Given the description of an element on the screen output the (x, y) to click on. 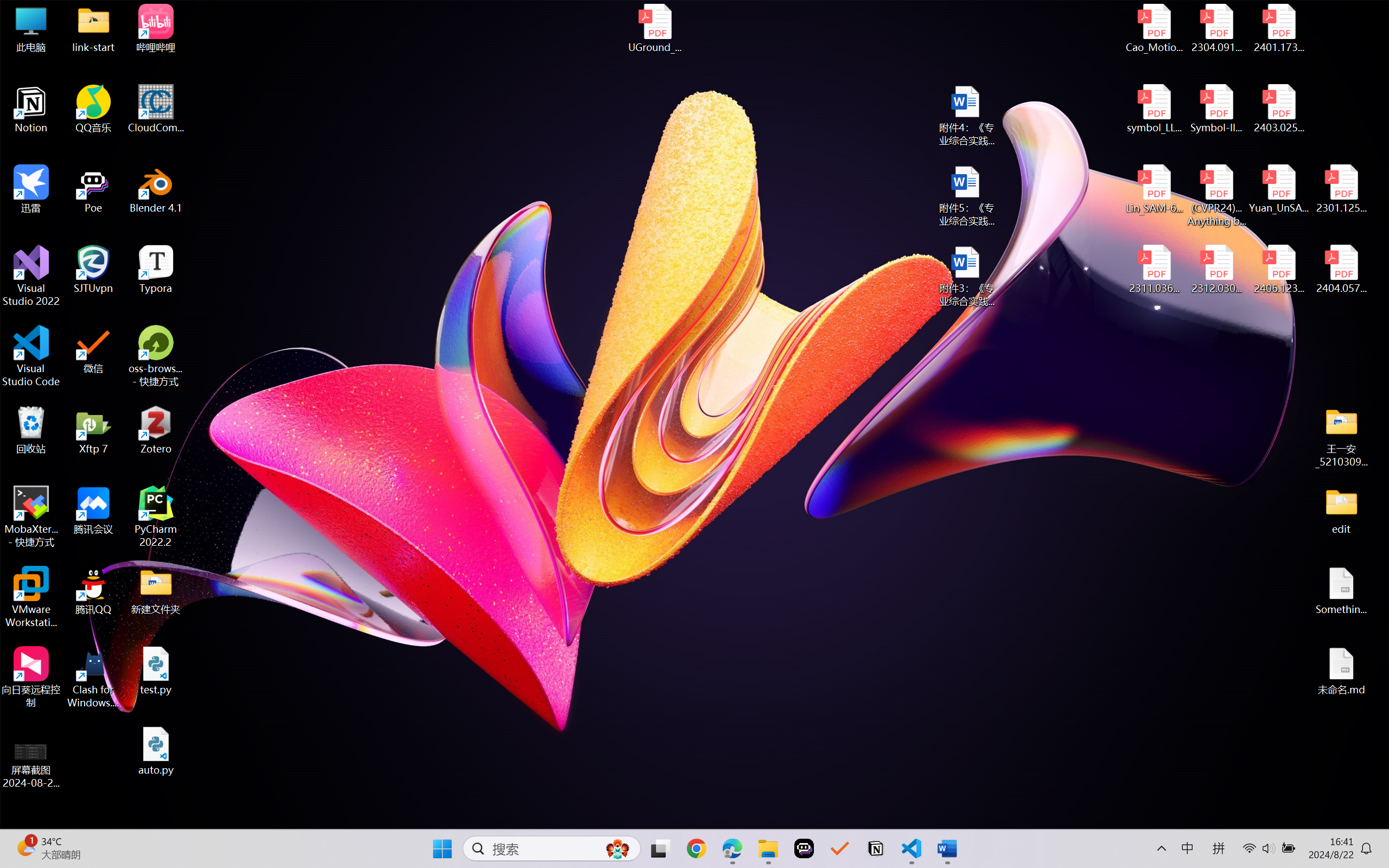
SJTUvpn (93, 269)
edit (1340, 510)
CloudCompare (156, 109)
VMware Workstation Pro (31, 597)
2404.05719v1.pdf (1340, 269)
Symbol-llm-v2.pdf (1216, 109)
2311.03658v2.pdf (1154, 269)
test.py (156, 670)
